Given the description of an element on the screen output the (x, y) to click on. 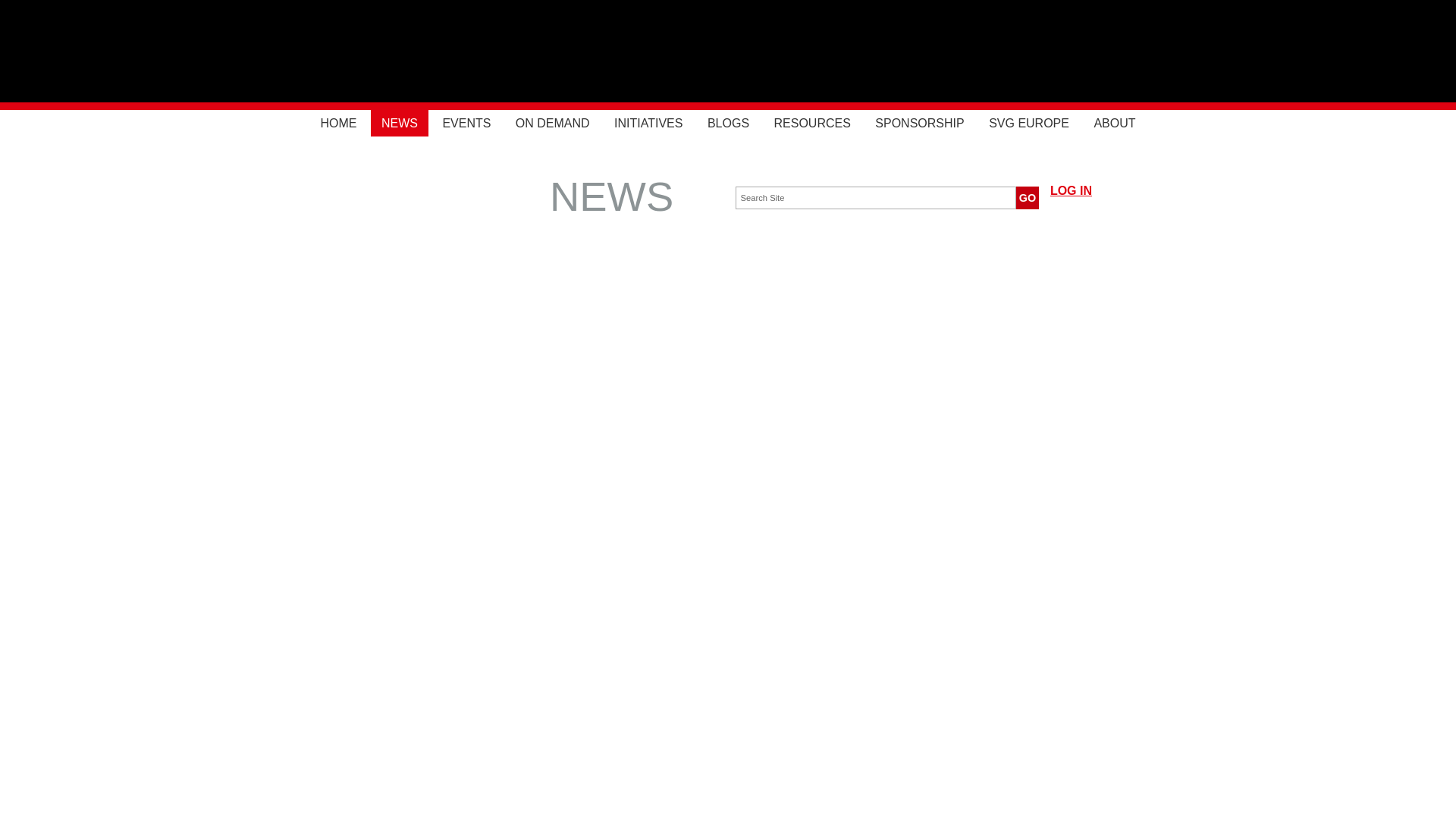
HOME (337, 122)
NEWS (399, 122)
GO (1027, 197)
BLOGS (728, 122)
ON DEMAND (552, 122)
EVENTS (465, 122)
INITIATIVES (648, 122)
